Given the description of an element on the screen output the (x, y) to click on. 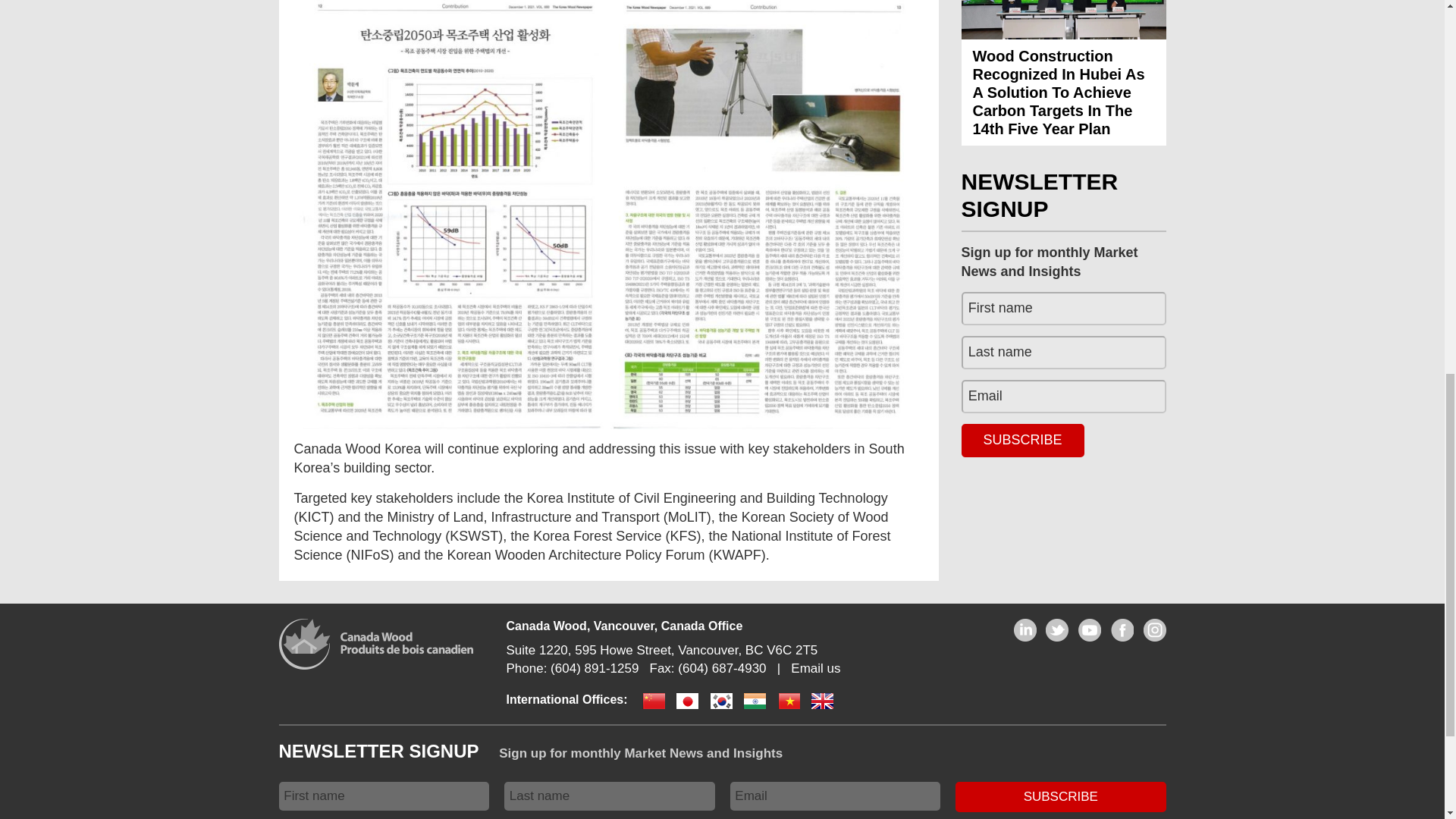
Subscribe (1060, 796)
Subscribe (1022, 440)
